Given the description of an element on the screen output the (x, y) to click on. 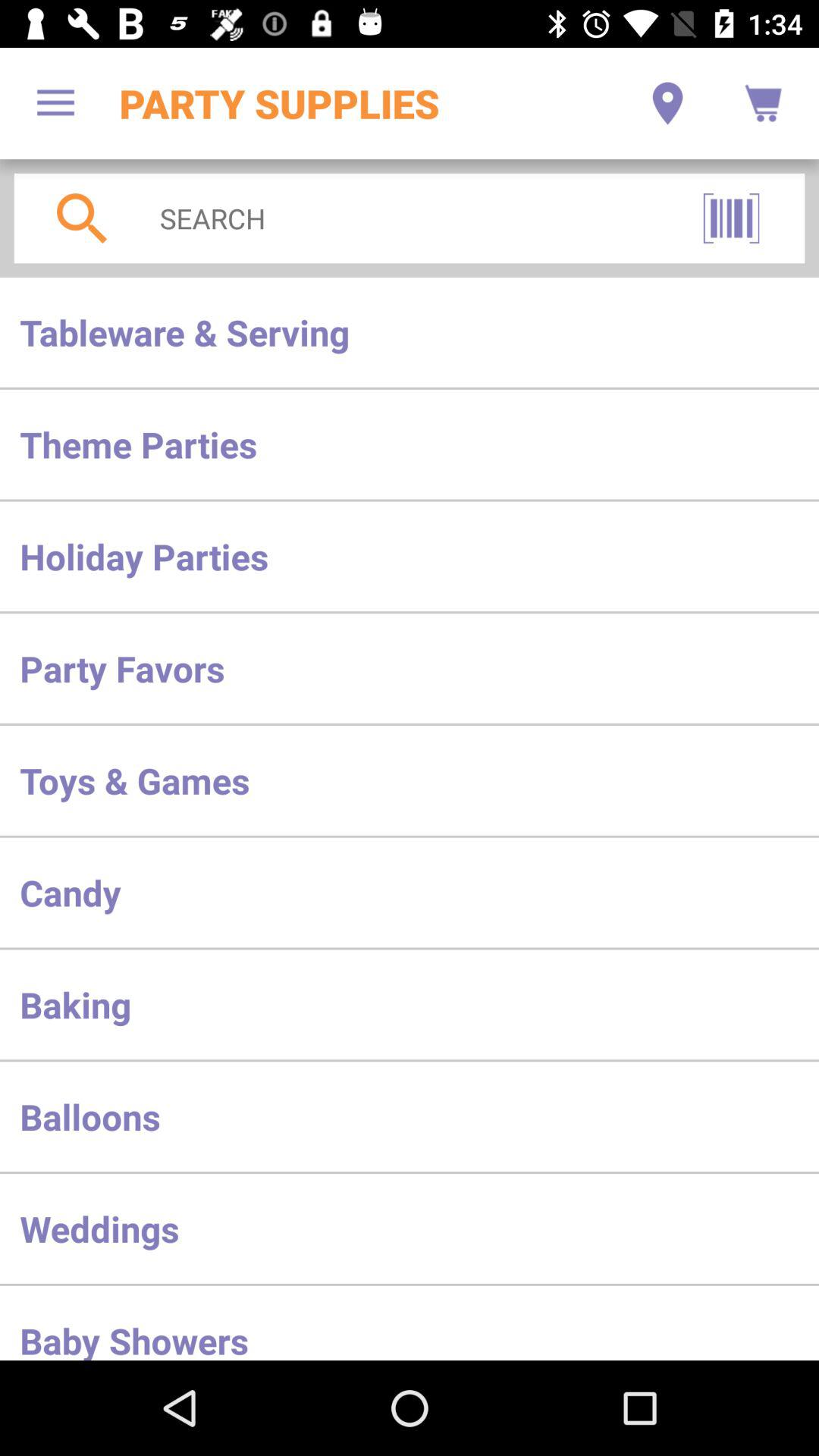
choose item above party favors item (409, 556)
